Given the description of an element on the screen output the (x, y) to click on. 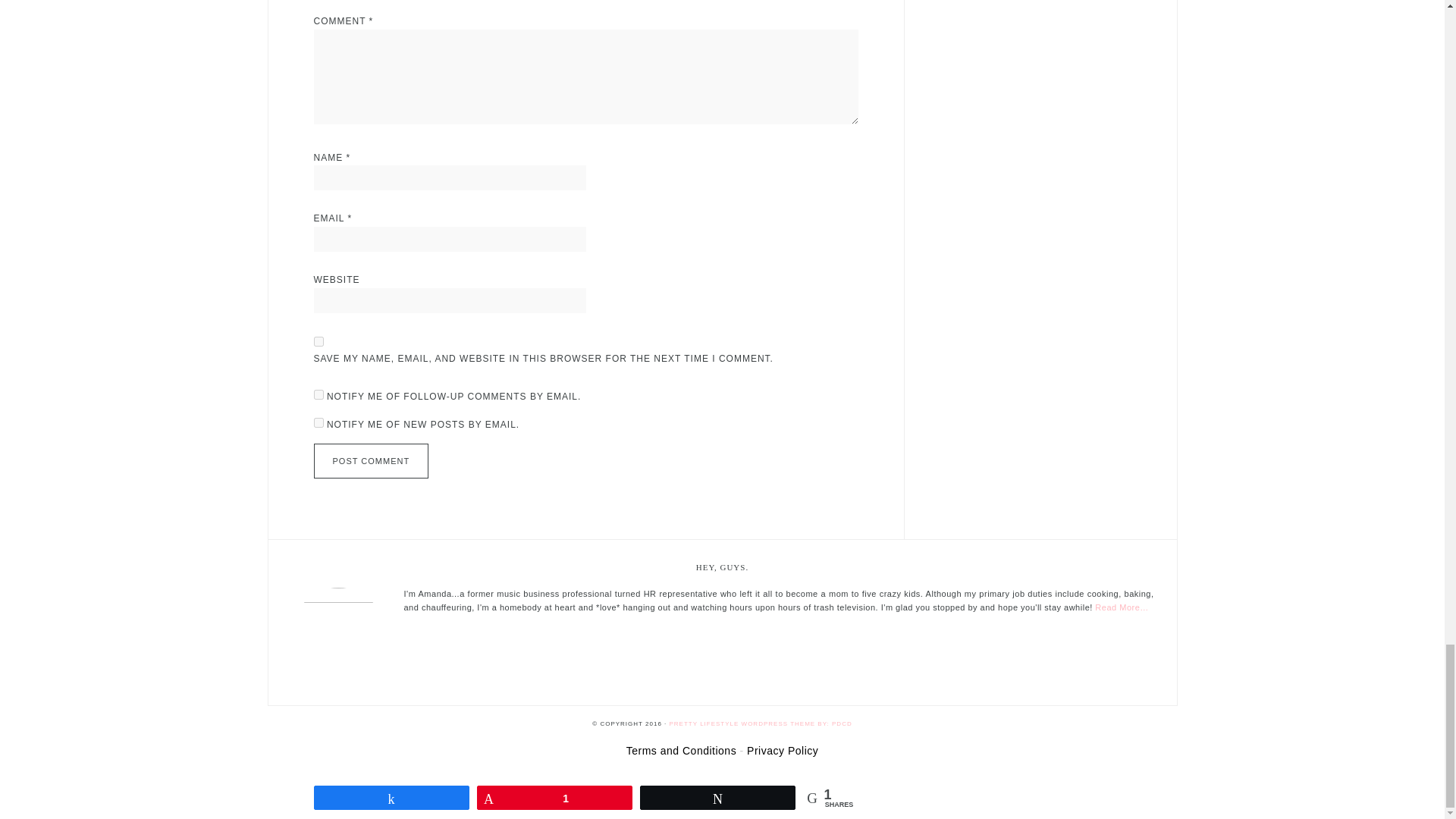
subscribe (318, 422)
subscribe (318, 394)
yes (318, 341)
Post Comment (371, 460)
Post Comment (371, 460)
